Given the description of an element on the screen output the (x, y) to click on. 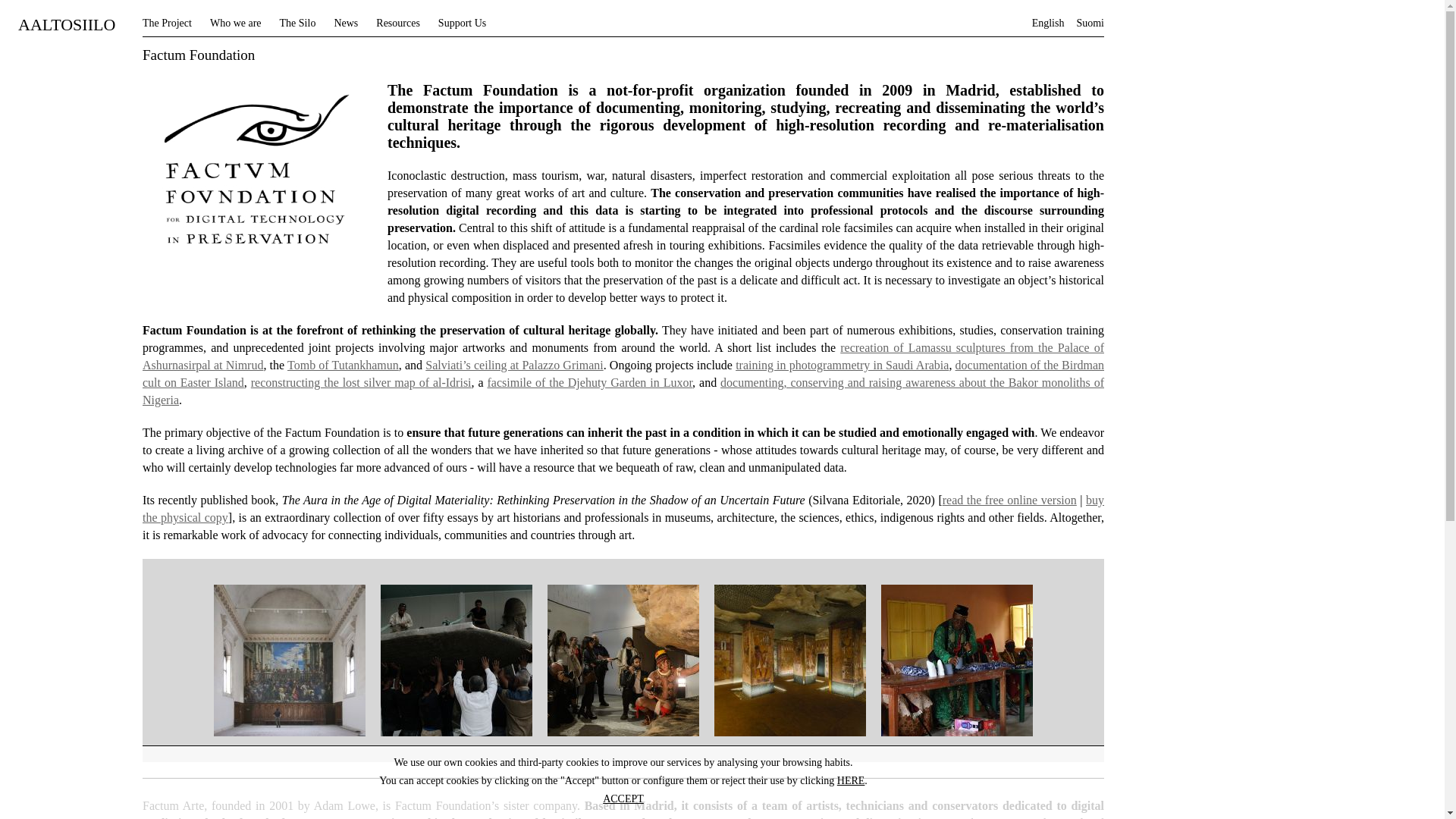
The Project (167, 23)
Suomi (1089, 23)
AALTOSIILO (66, 27)
Suomi (1089, 23)
The Silo (297, 23)
English (1048, 23)
News (345, 23)
The Project (167, 23)
Tomb of Tutankhamun (342, 364)
Support Us (462, 23)
